Given the description of an element on the screen output the (x, y) to click on. 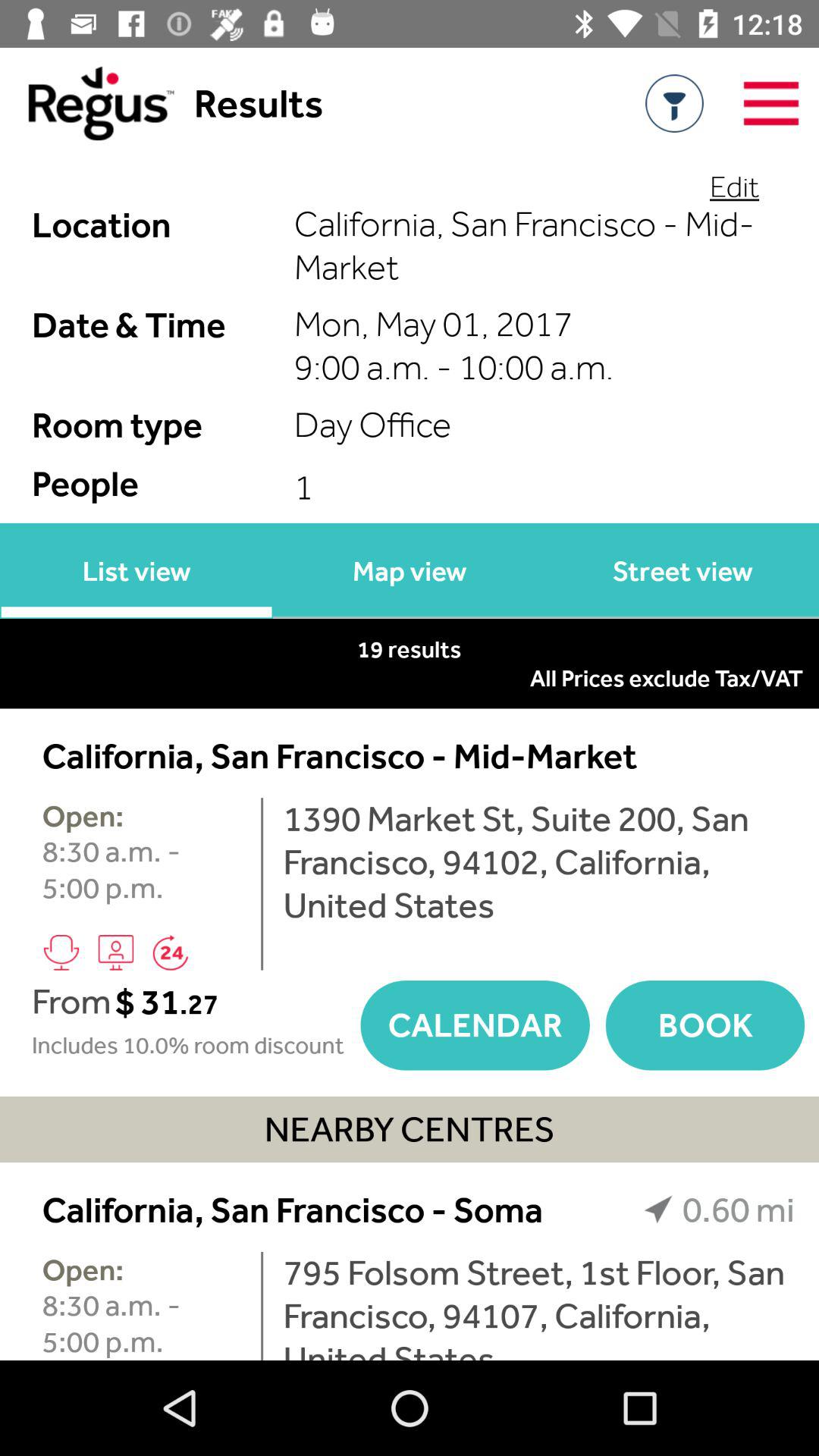
turn on icon above california san francisco icon (409, 677)
